Given the description of an element on the screen output the (x, y) to click on. 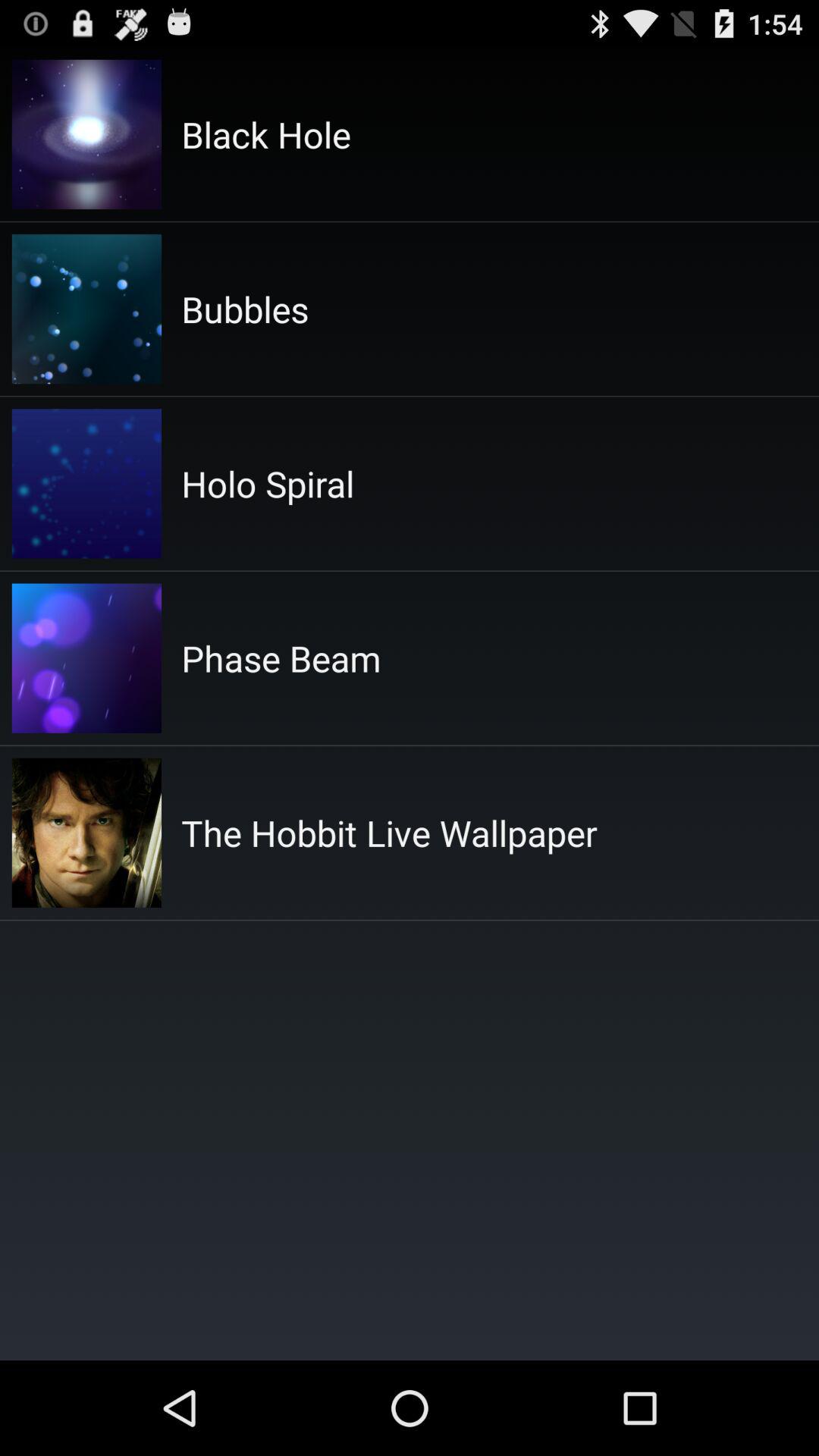
scroll to black hole item (265, 134)
